Given the description of an element on the screen output the (x, y) to click on. 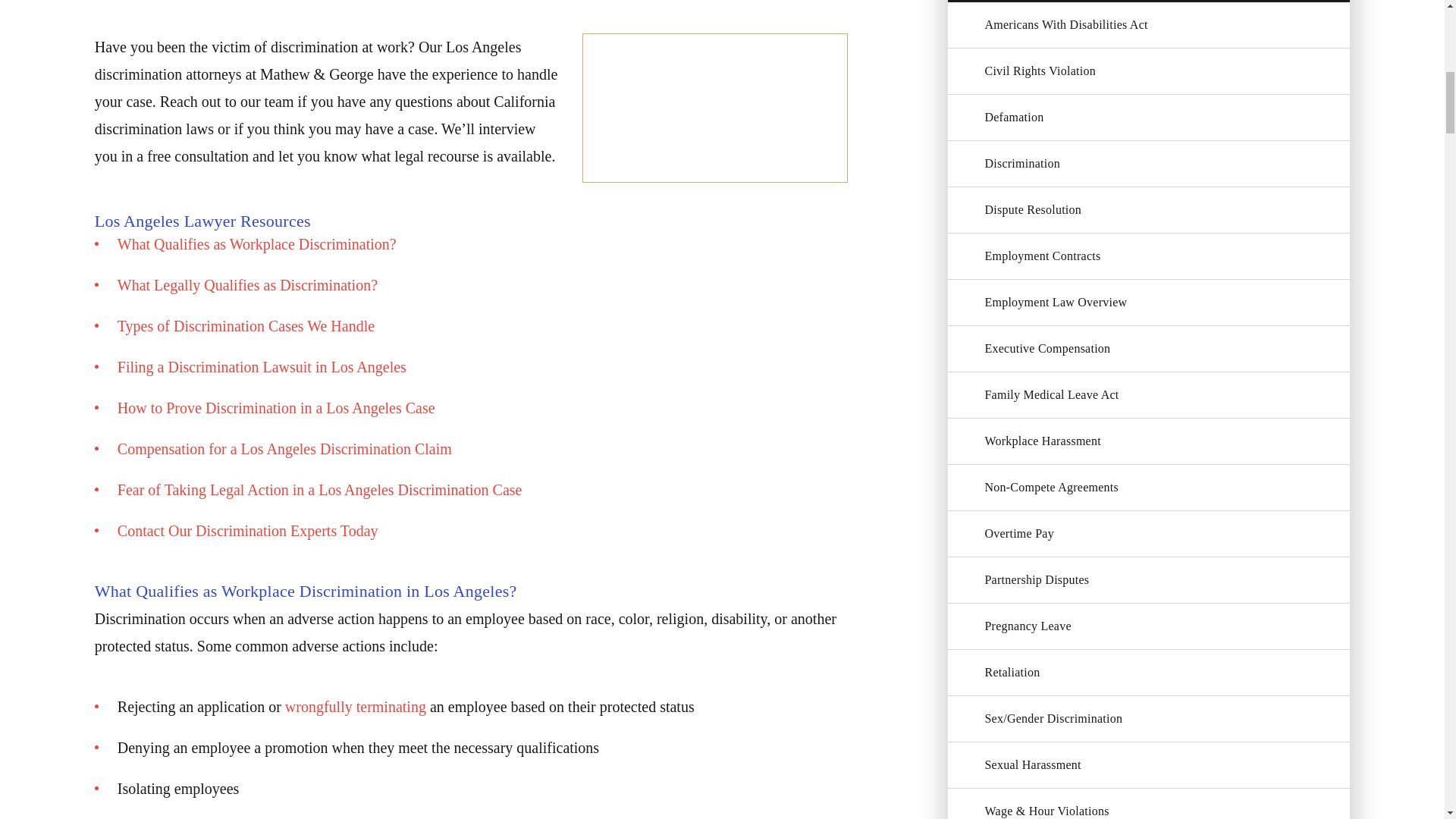
Contact Our Discrimination Experts Today (247, 531)
Types of Discrimination Cases We Handle (245, 326)
What Legally Qualifies as Discrimination? (247, 285)
wrongfully terminating (355, 707)
What Qualifies as Workplace Discrimination? (256, 244)
Filing a Discrimination Lawsuit in Los Angeles (261, 367)
How to Prove Discrimination in a Los Angeles Case (276, 408)
Compensation for a Los Angeles Discrimination Claim (284, 449)
